Given the description of an element on the screen output the (x, y) to click on. 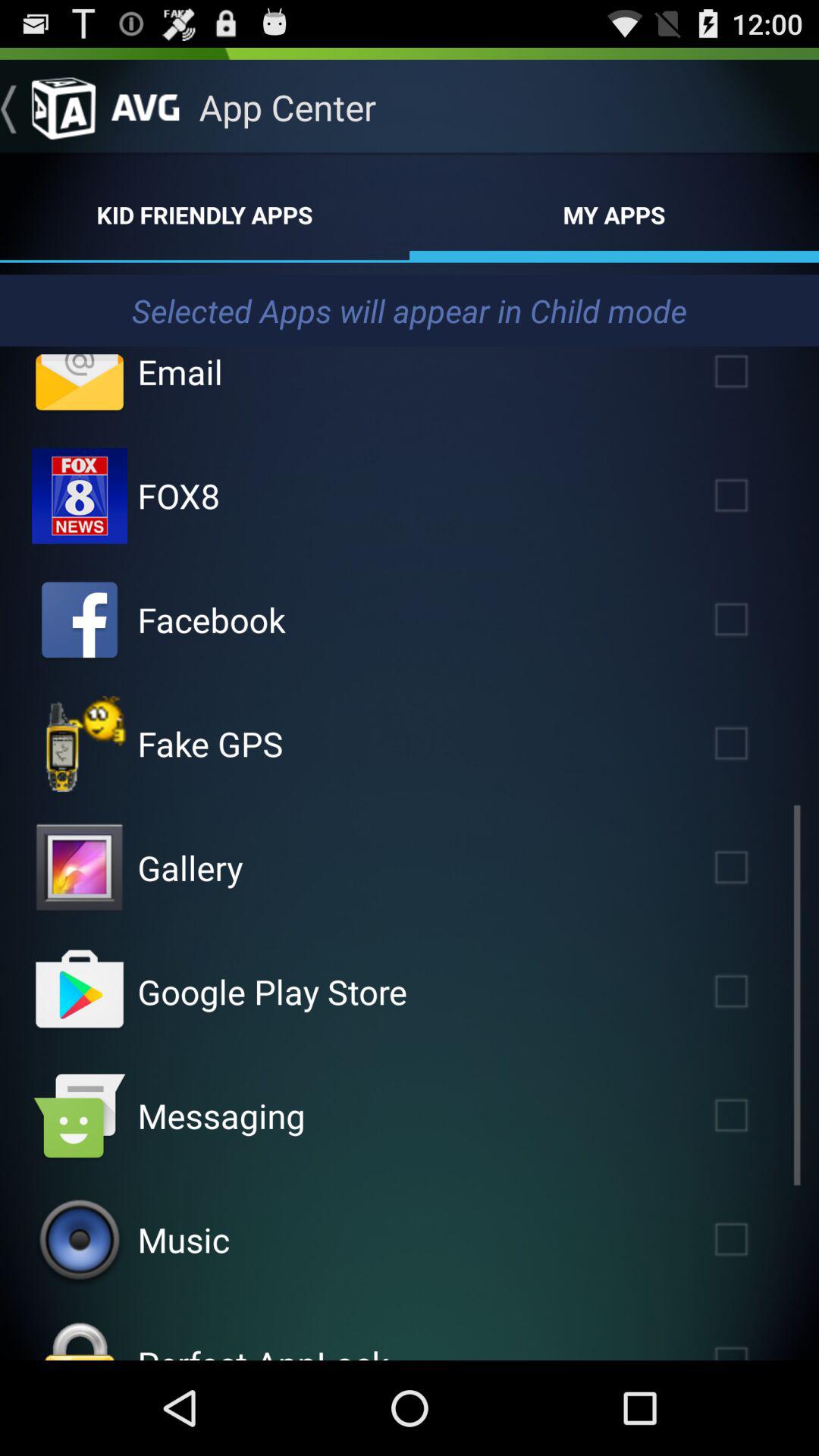
open music app (183, 1239)
